Given the description of an element on the screen output the (x, y) to click on. 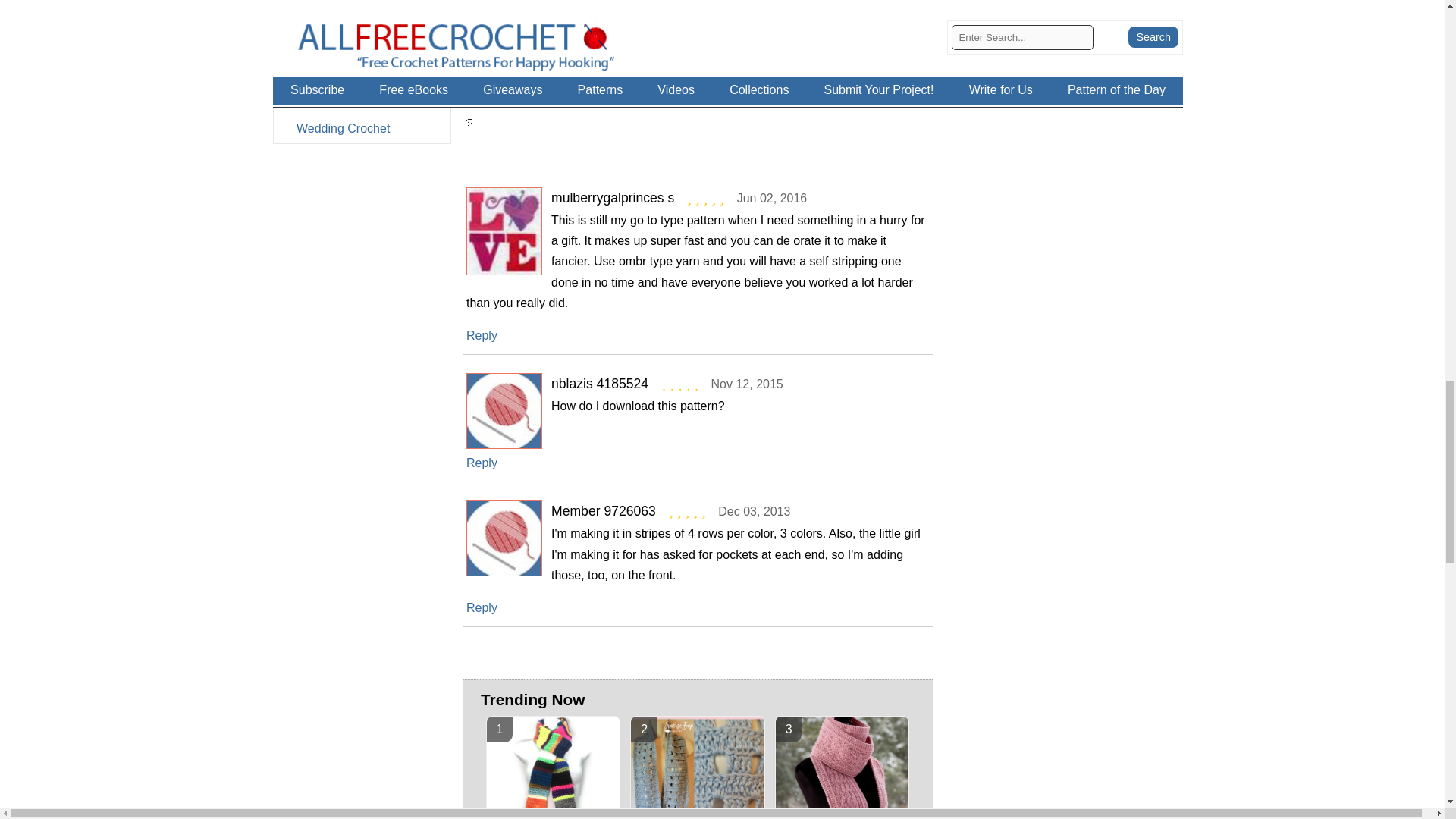
Submit (697, 92)
